Given the description of an element on the screen output the (x, y) to click on. 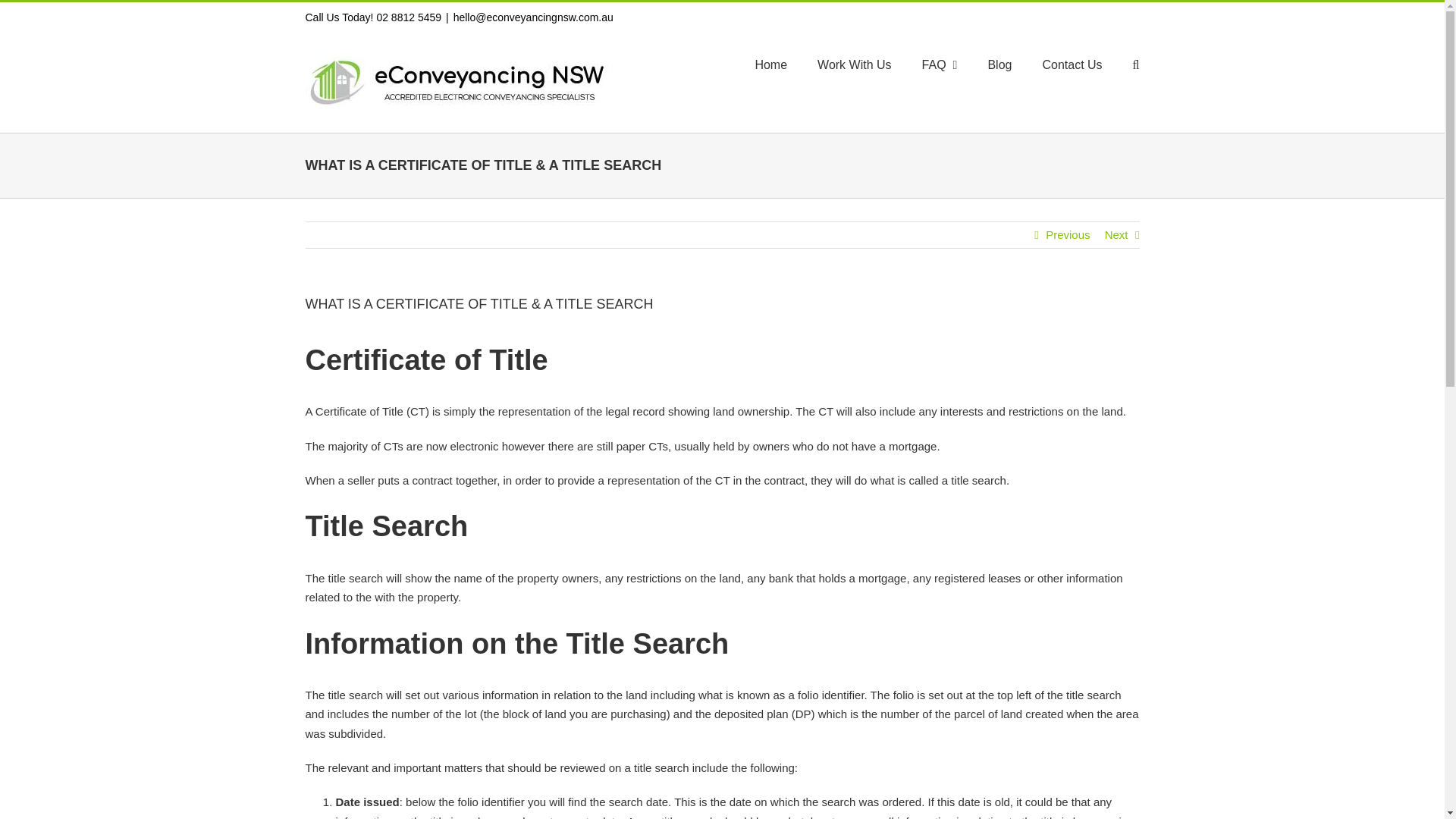
Work With Us (853, 65)
Blog (999, 65)
FAQ (939, 65)
Contact Us (1072, 65)
Previous (1067, 234)
Home (770, 65)
Next (1116, 234)
Search (1136, 65)
